Given the description of an element on the screen output the (x, y) to click on. 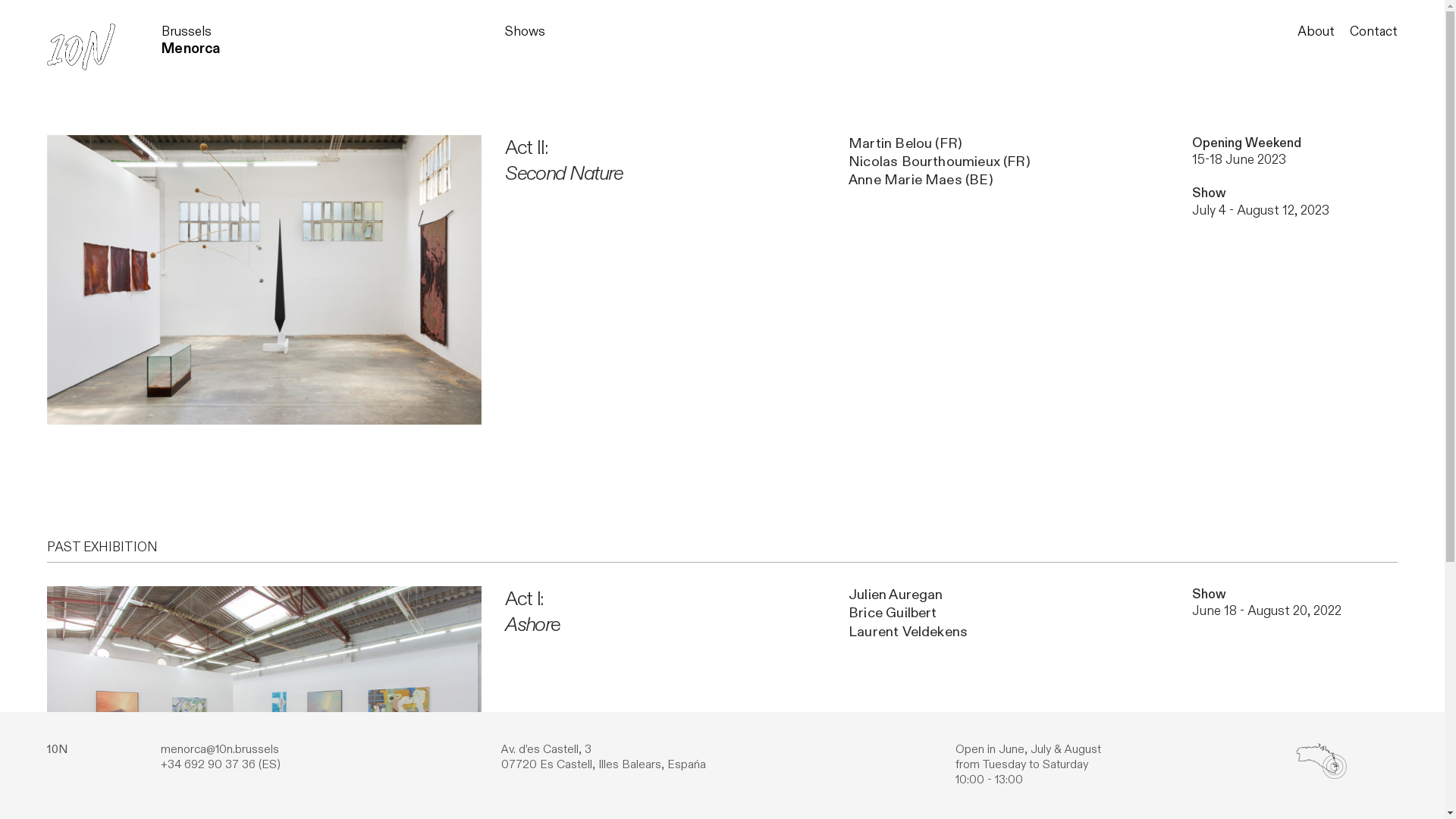
Act II: 
Second Nature Element type: text (564, 160)
Contact Element type: text (1373, 31)
Brussels Element type: text (186, 31)
Julien Auregan
Brice Guilbert
Laurent Veldekens Element type: text (907, 613)
Menorca Element type: text (190, 48)
Act I:
Ashor Element type: text (527, 611)
About Element type: text (1315, 31)
menorca@10n.brussels Element type: text (219, 749)
Shows Element type: text (525, 31)
